Given the description of an element on the screen output the (x, y) to click on. 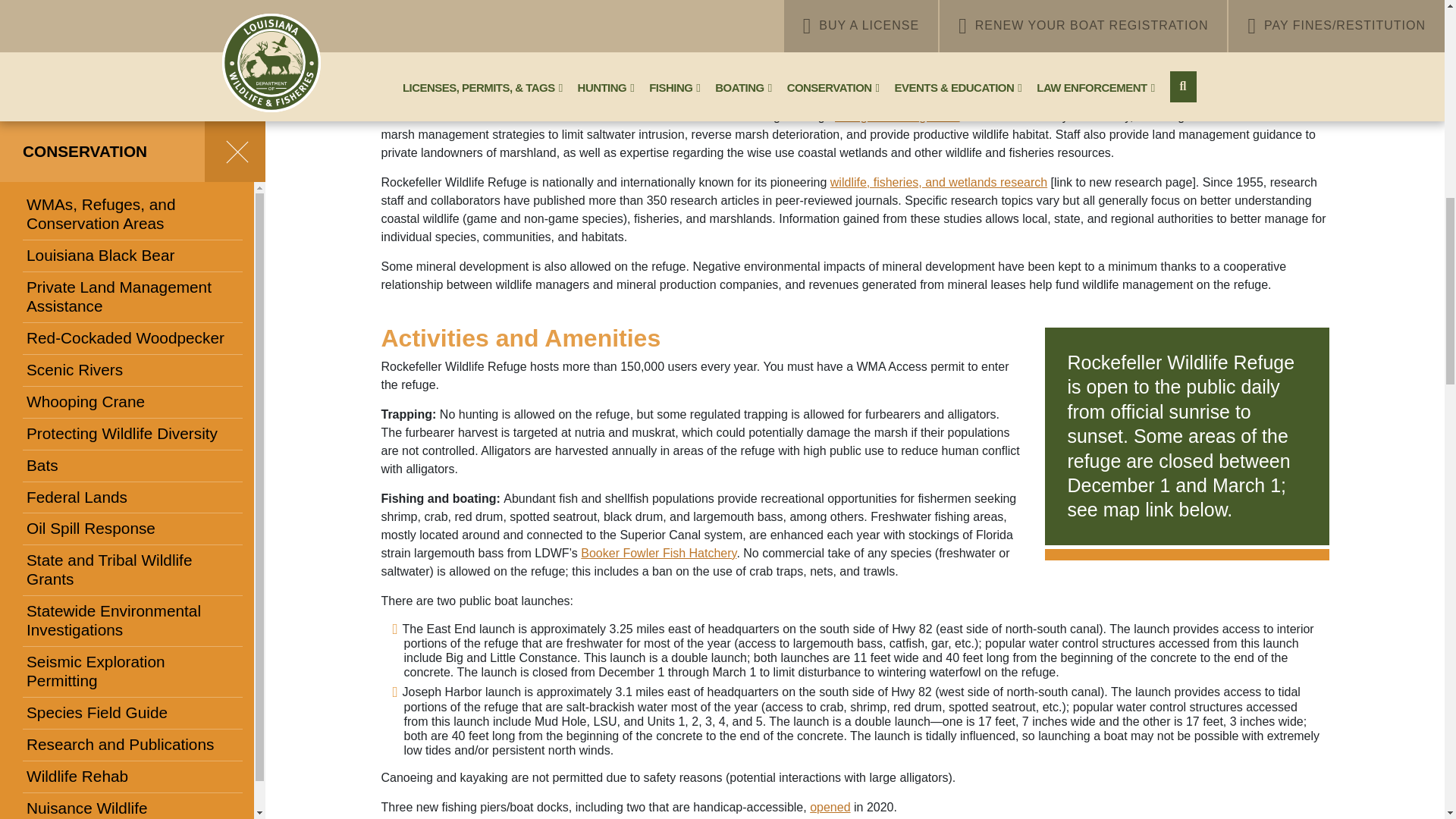
Rockefeller Management (896, 115)
Rockefeller Research (937, 182)
